Given the description of an element on the screen output the (x, y) to click on. 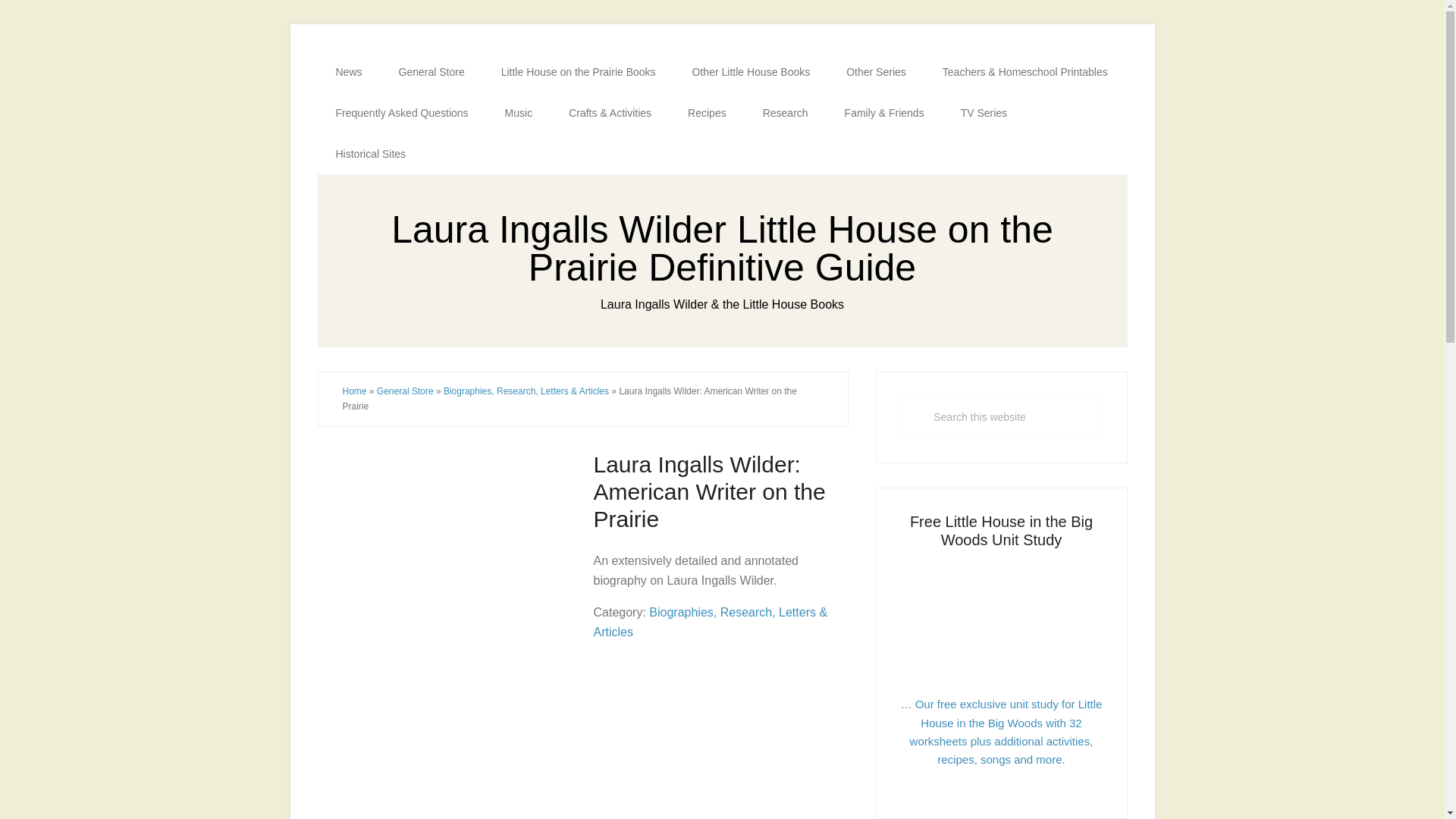
News (348, 71)
Little House on the Prairie Books (578, 71)
Other Little House Books (751, 71)
Music (518, 112)
Recipes (706, 112)
General Store (431, 71)
Other Series (876, 71)
Frequently Asked Questions (401, 112)
